Given the description of an element on the screen output the (x, y) to click on. 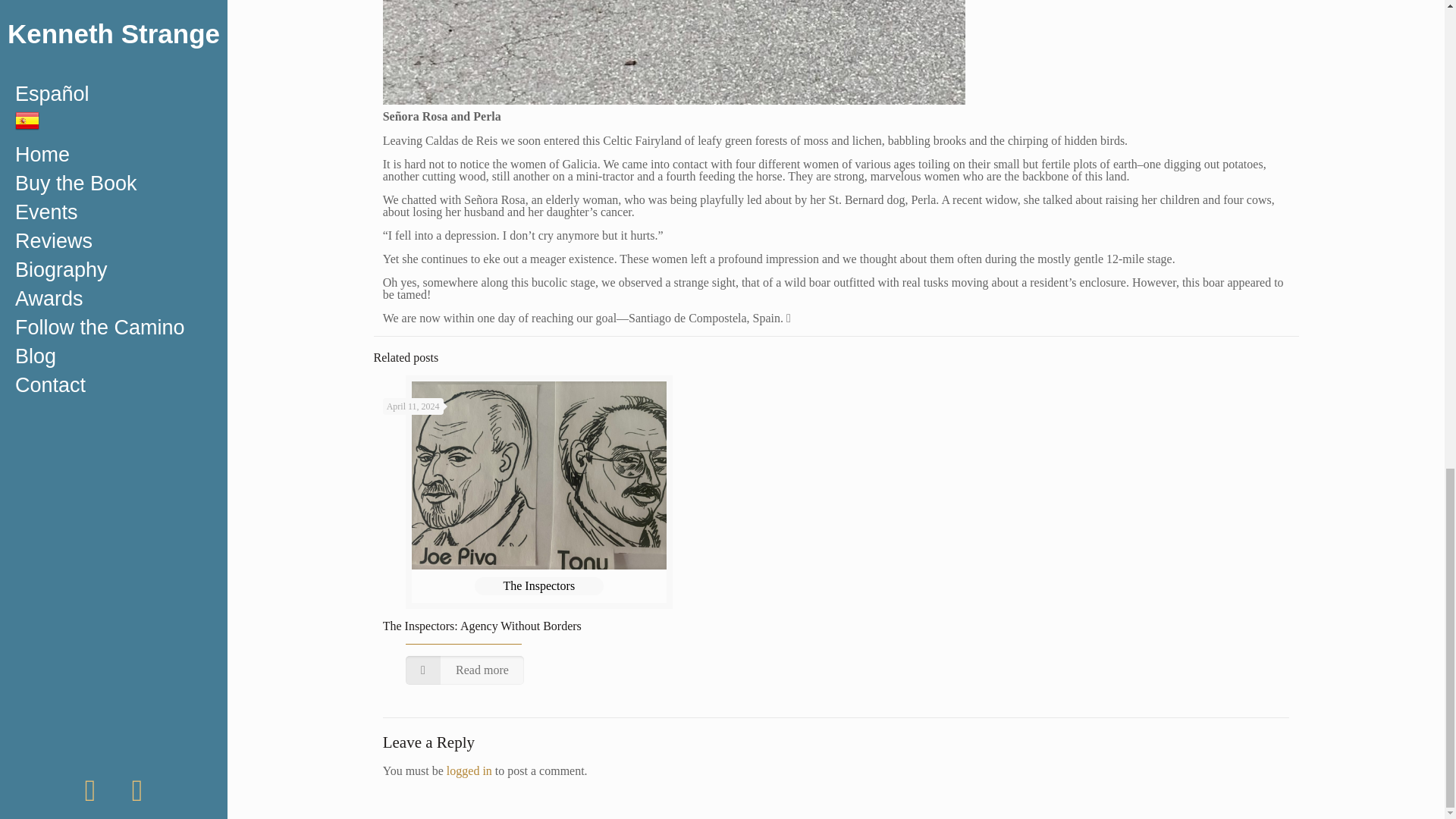
The Inspectors: Agency Without Borders (481, 625)
Read more (465, 670)
logged in (469, 770)
